Given the description of an element on the screen output the (x, y) to click on. 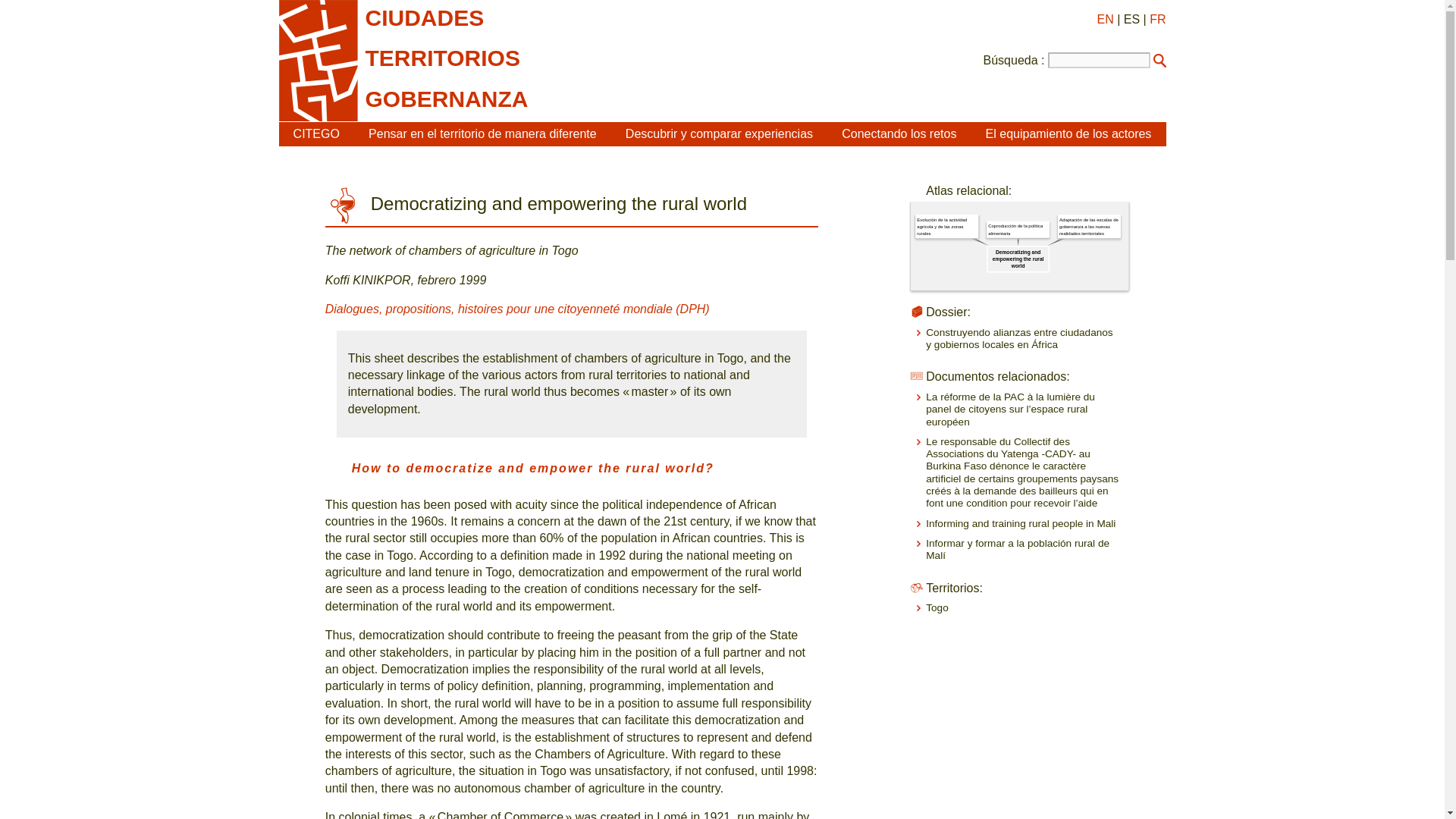
Conectando los retos (898, 133)
Democratizing and empowering the rural world (1054, 272)
EN (1104, 19)
Pensar en el territorio de manera diferente (482, 133)
FR (1158, 19)
Descubrir y comparar experiencias (719, 133)
El equipamiento de los actores (1068, 133)
CITEGO (316, 133)
